Given the description of an element on the screen output the (x, y) to click on. 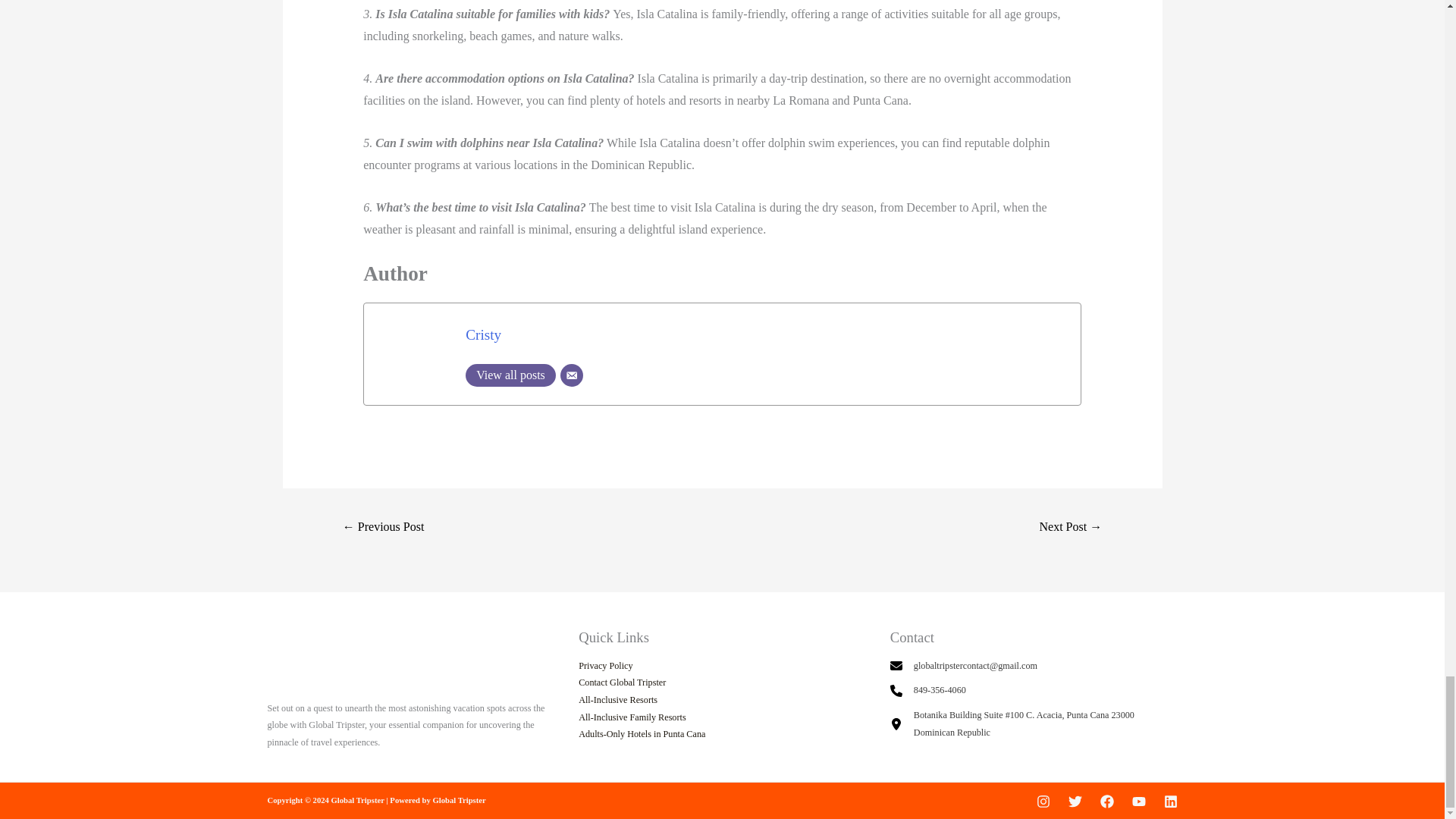
Cristy (482, 334)
View all posts (510, 374)
